Given the description of an element on the screen output the (x, y) to click on. 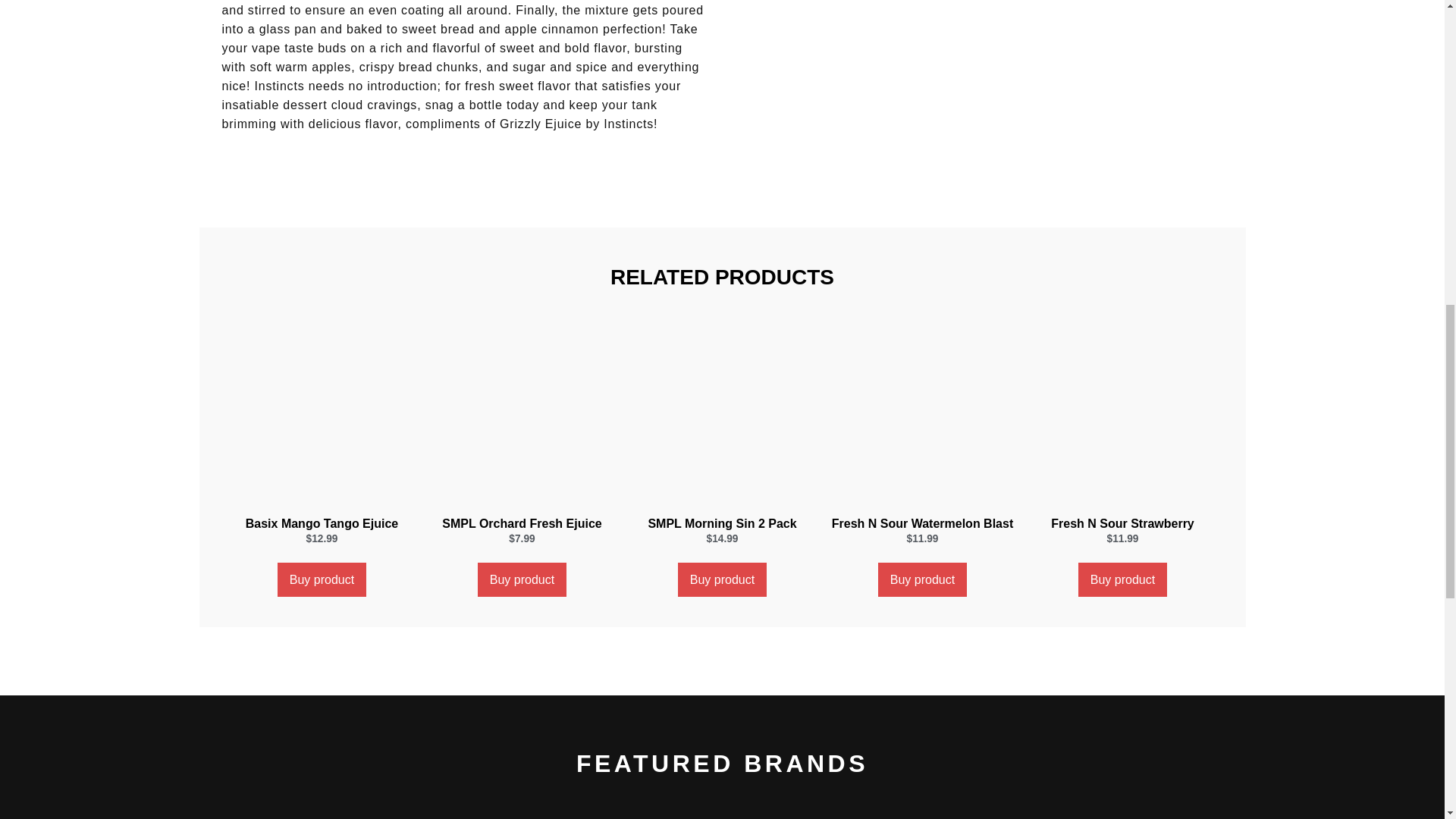
Buy product (1122, 579)
Buy product (722, 579)
Buy product (322, 579)
Buy product (521, 579)
Buy product (921, 579)
